Given the description of an element on the screen output the (x, y) to click on. 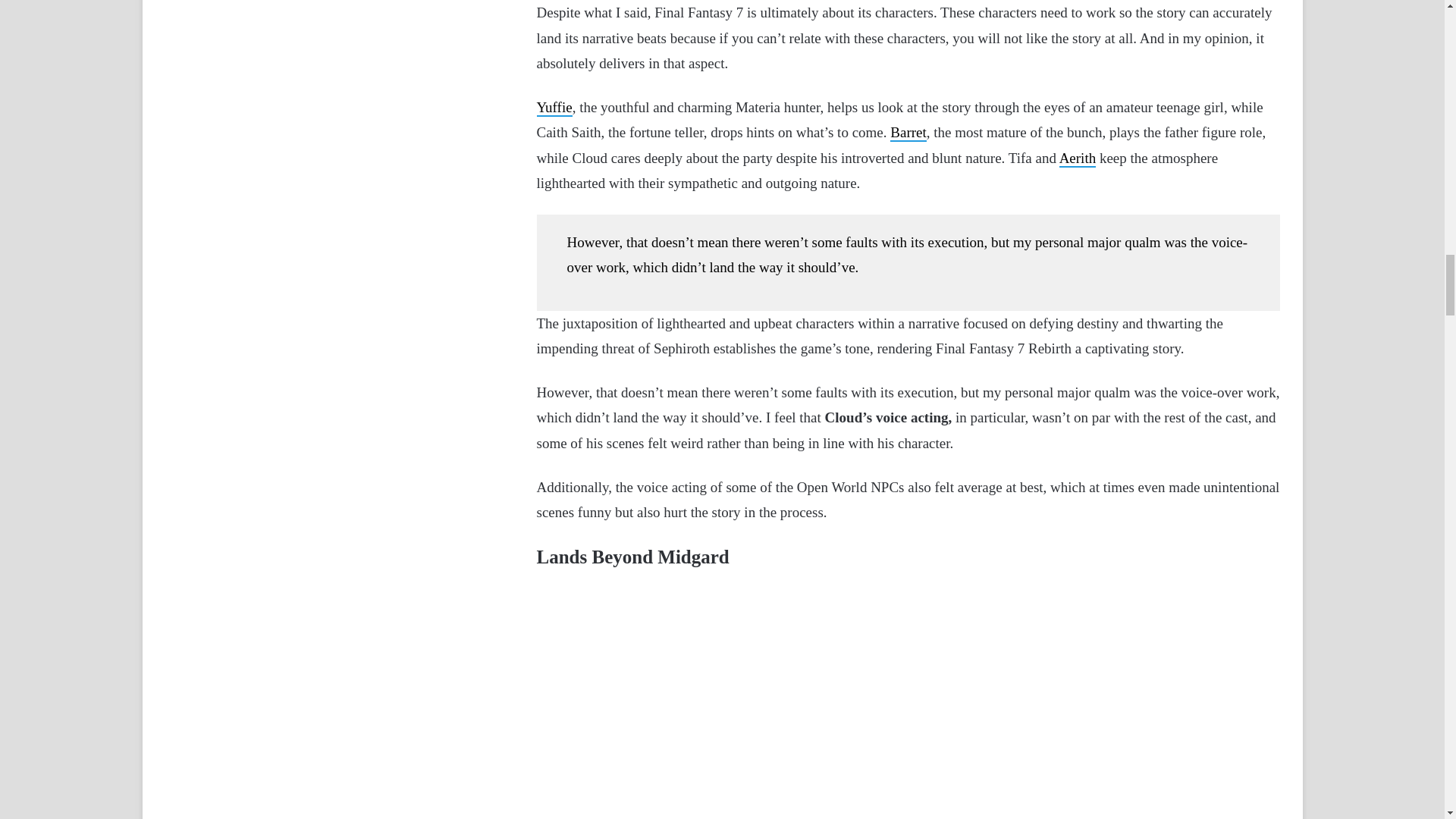
Aerith (1077, 158)
Barret (907, 132)
Yuffie (554, 108)
